Given the description of an element on the screen output the (x, y) to click on. 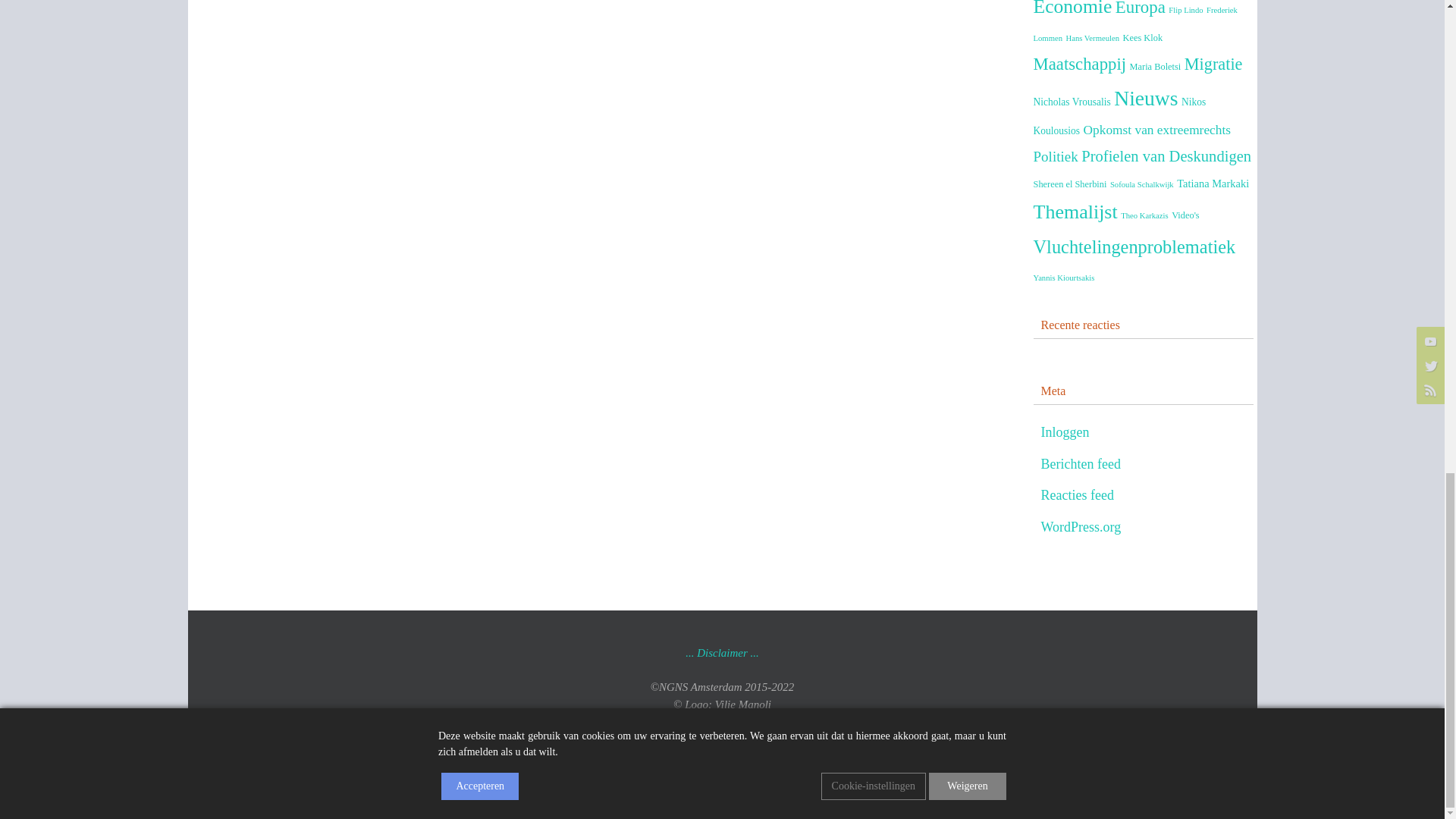
YouTube (690, 799)
'Semantic Personal Publishing Platform' (791, 751)
Nirvana Theme by Cryout Creations (741, 751)
